Given the description of an element on the screen output the (x, y) to click on. 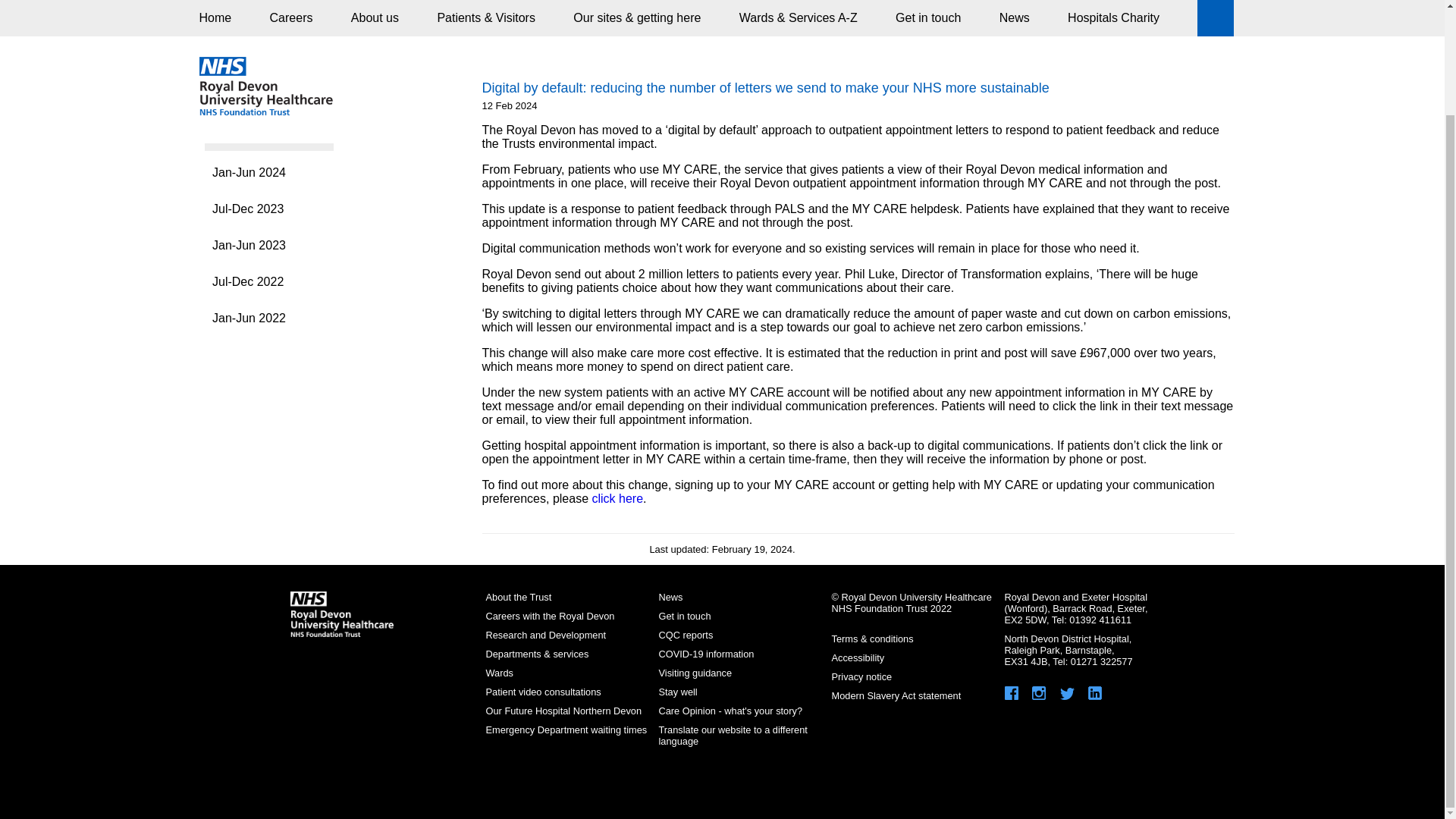
Jan-Jun 2023 (299, 245)
Modern Slavery Statement (895, 695)
Research and Development (544, 634)
About the Trust (517, 596)
Stay well (677, 691)
Our Future Hospital Northern Devon (563, 710)
Jan-Jun 2022 (299, 317)
News (670, 596)
Jul-Dec 2022 (299, 281)
Home (216, 29)
